Given the description of an element on the screen output the (x, y) to click on. 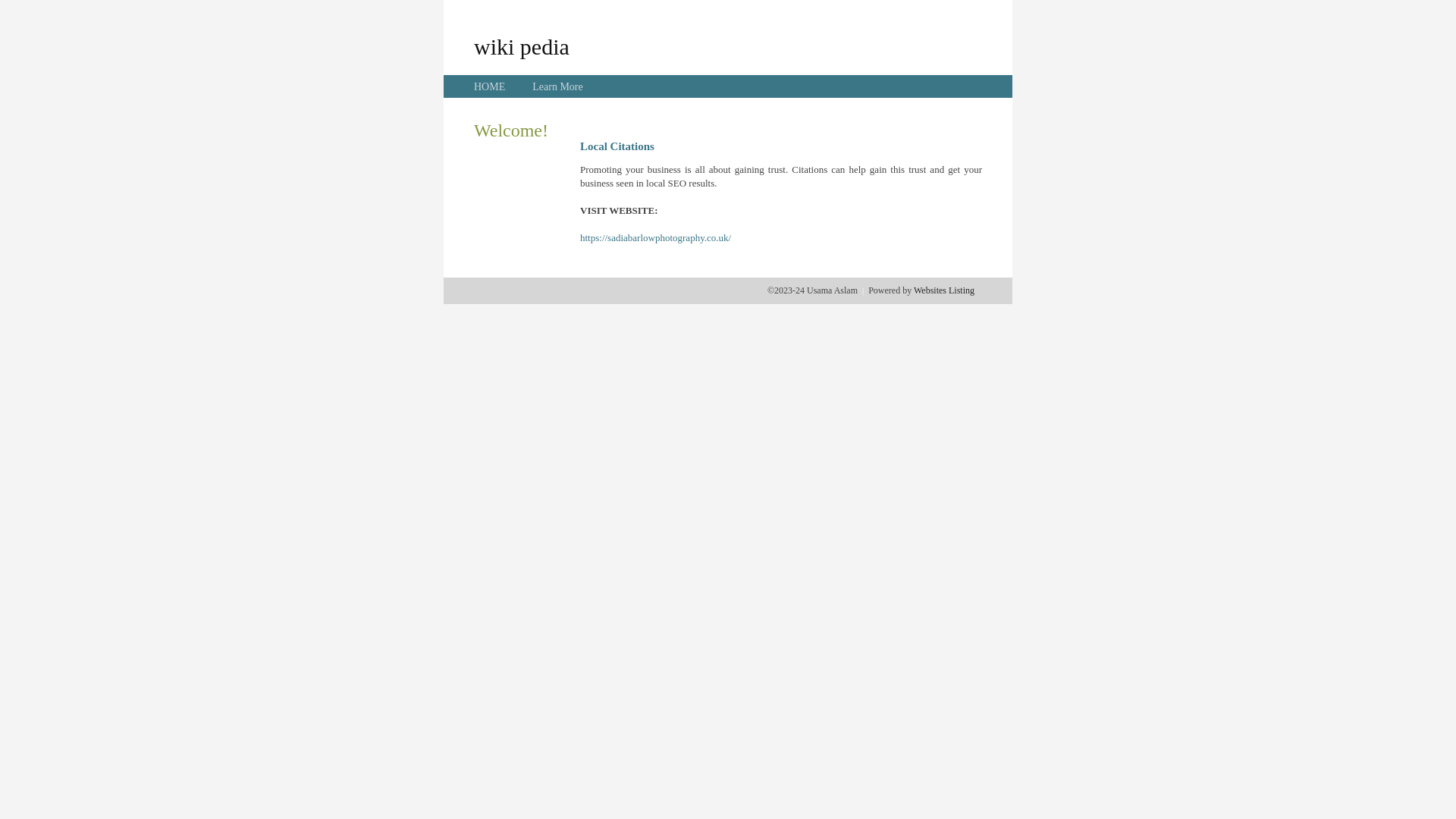
HOME Element type: text (489, 86)
Learn More Element type: text (557, 86)
https://sadiabarlowphotography.co.uk/ Element type: text (655, 237)
wiki pedia Element type: text (521, 46)
Websites Listing Element type: text (943, 290)
